Given the description of an element on the screen output the (x, y) to click on. 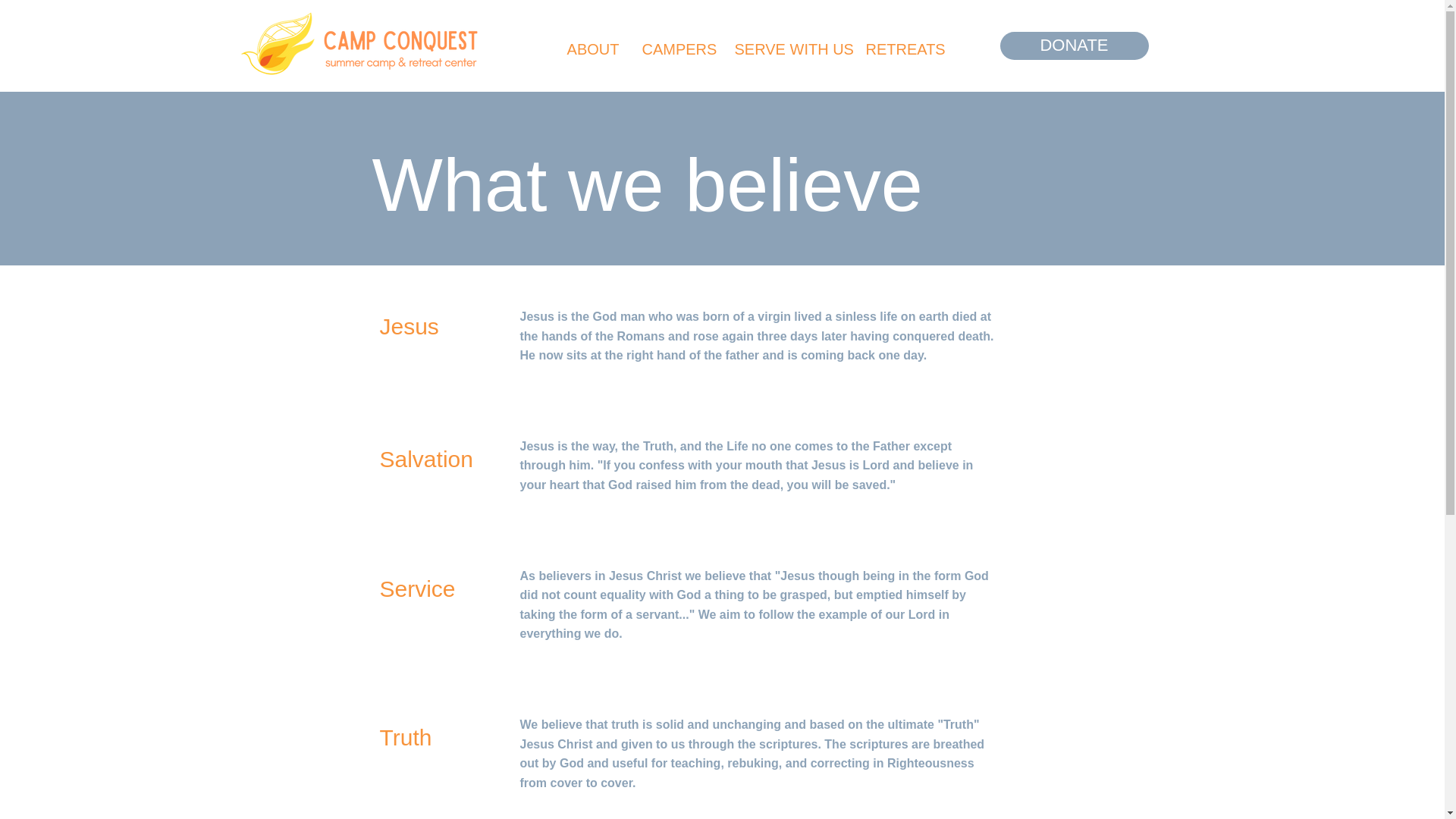
SERVE WITH US (788, 48)
ABOUT (592, 48)
CAMPERS (676, 48)
RETREATS (901, 48)
DONATE (1073, 45)
